Given the description of an element on the screen output the (x, y) to click on. 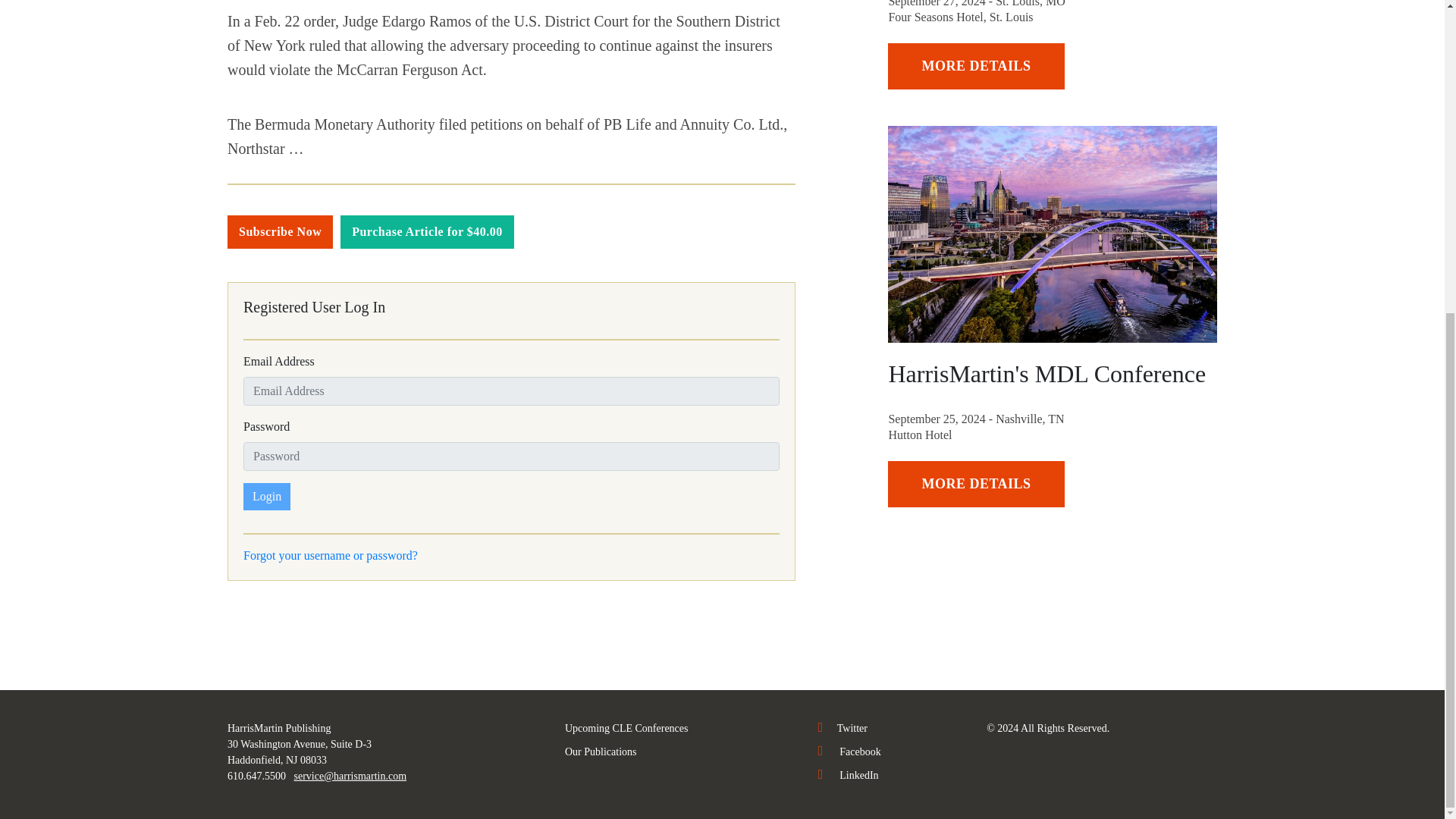
MORE DETAILS (976, 483)
Our Publications (600, 751)
MORE DETAILS (976, 66)
Twitter (842, 727)
Forgot your username or password? (330, 554)
Upcoming CLE Conferences (626, 727)
Subscribe Now (280, 231)
LinkedIn (848, 775)
Facebook (849, 751)
Login (266, 496)
